Given the description of an element on the screen output the (x, y) to click on. 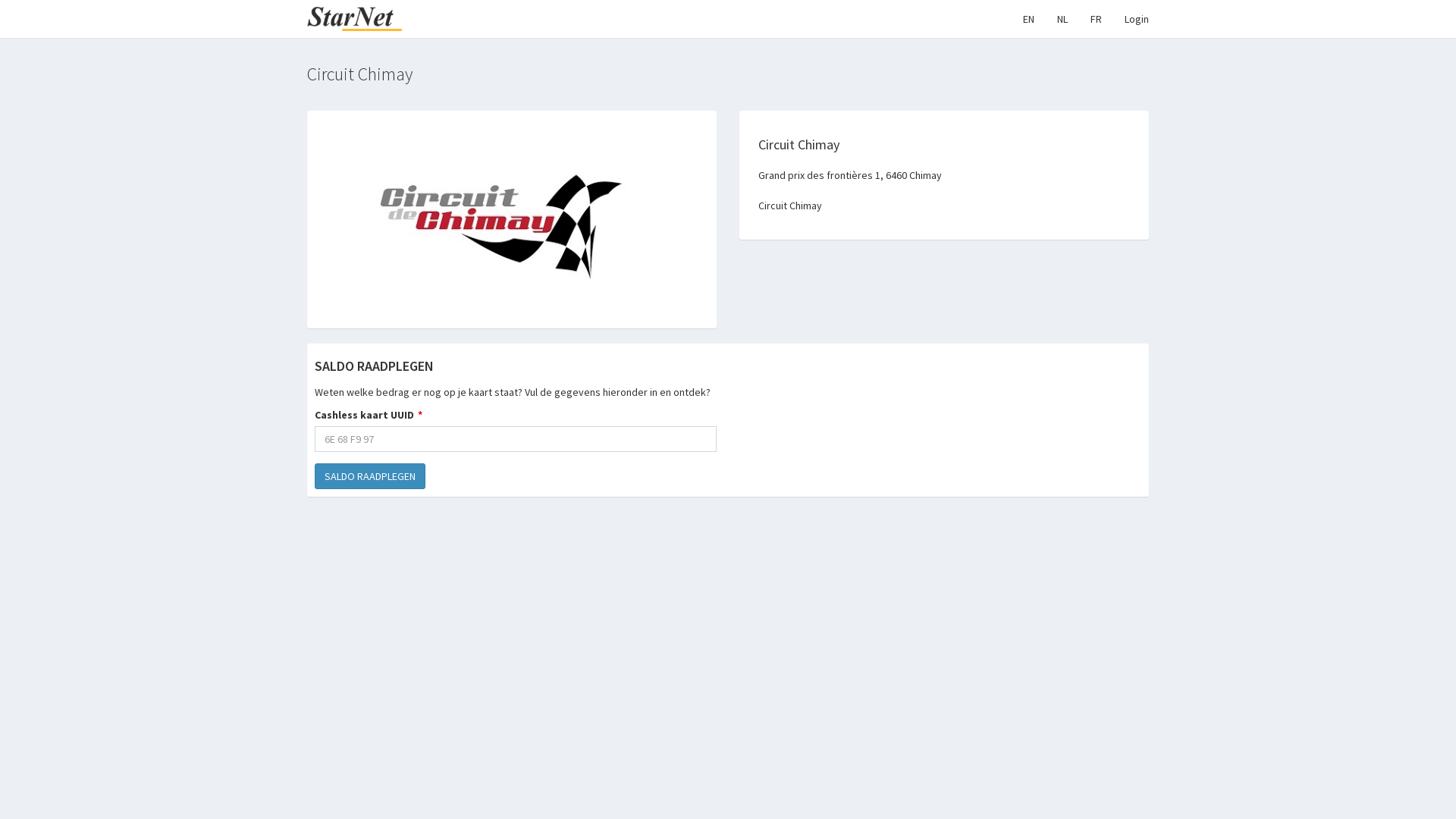
Login Element type: text (1136, 18)
EN Element type: text (1028, 18)
NL Element type: text (1062, 18)
SALDO RAADPLEGEN  Element type: text (369, 476)
FR Element type: text (1096, 18)
